Given the description of an element on the screen output the (x, y) to click on. 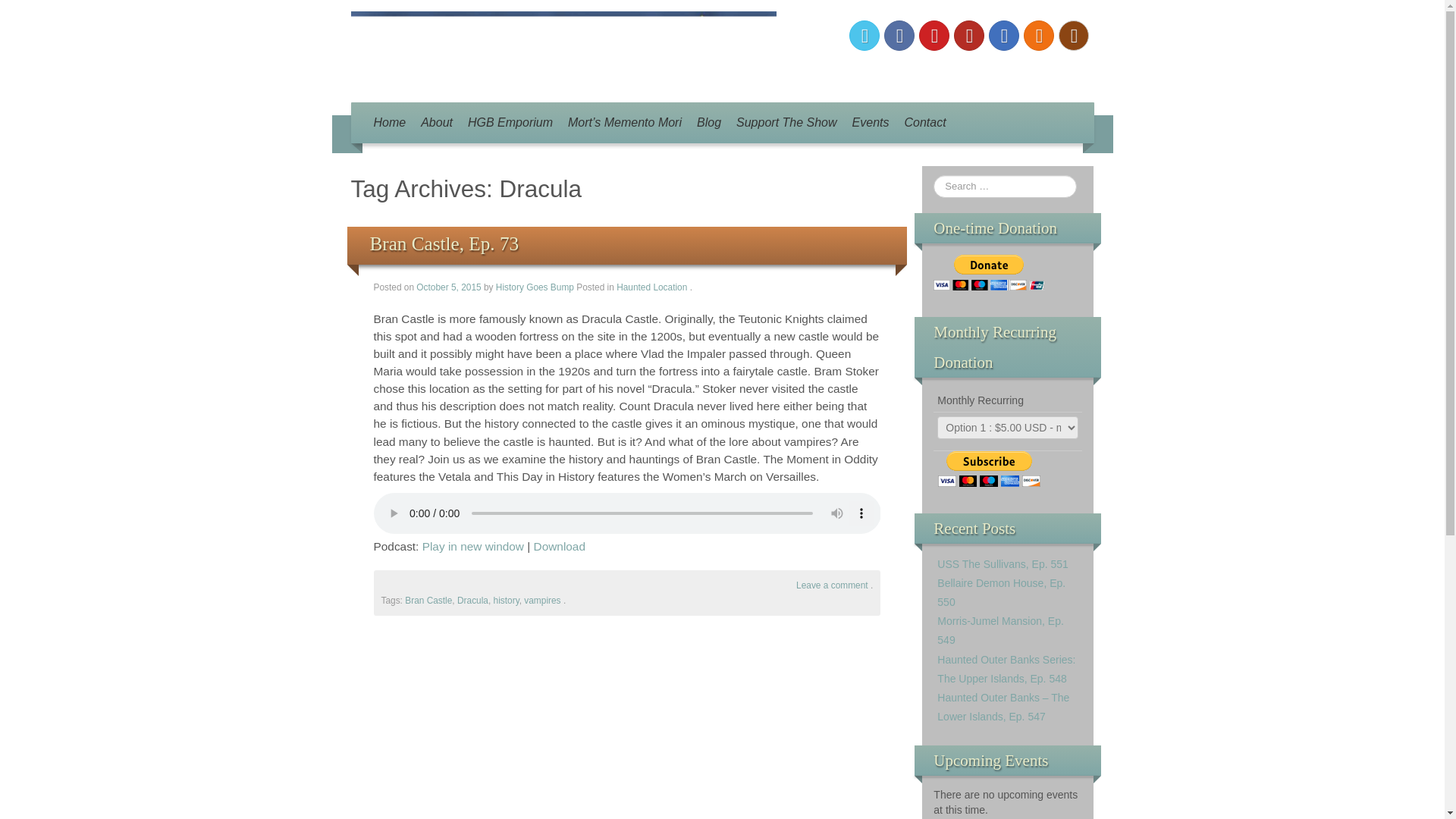
vampires (542, 600)
History Goes Bump (534, 286)
Home (389, 122)
October 5, 2015 (449, 286)
History Goes Bump Youtube (968, 35)
Permalink to Bran Castle, Ep. 73 (444, 243)
Bran Castle, Ep. 73 (444, 243)
History Goes Bump Facebook (898, 35)
Events (870, 122)
Download (559, 545)
